Given the description of an element on the screen output the (x, y) to click on. 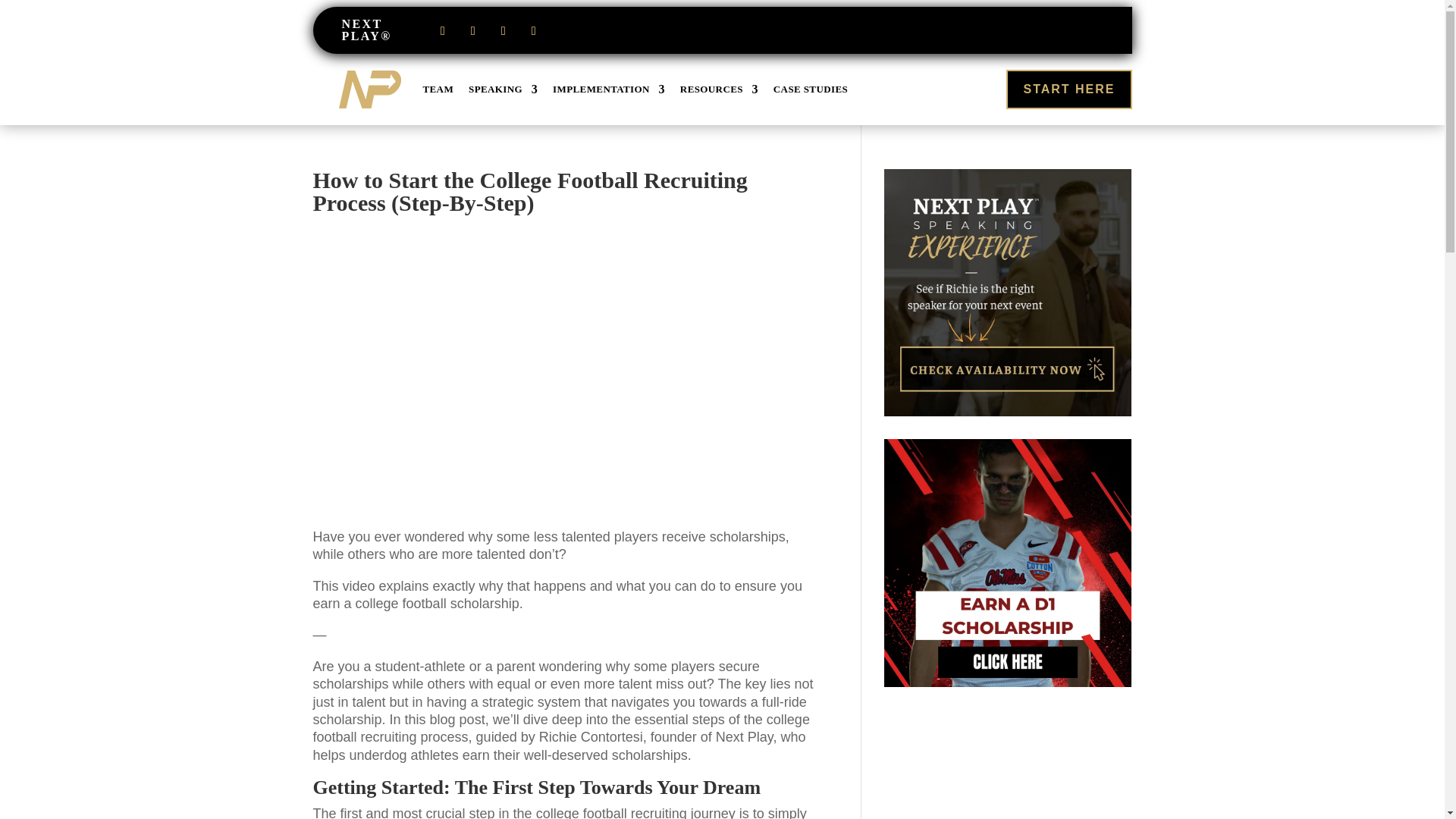
START HERE (1068, 88)
Follow on Instagram (472, 30)
SPEAKING (502, 88)
RESOURCES (718, 88)
Follow on Youtube (533, 30)
IMPLEMENTATION (609, 88)
CASE STUDIES (810, 88)
Follow on LinkedIn (503, 30)
Follow on Facebook (442, 30)
